Given the description of an element on the screen output the (x, y) to click on. 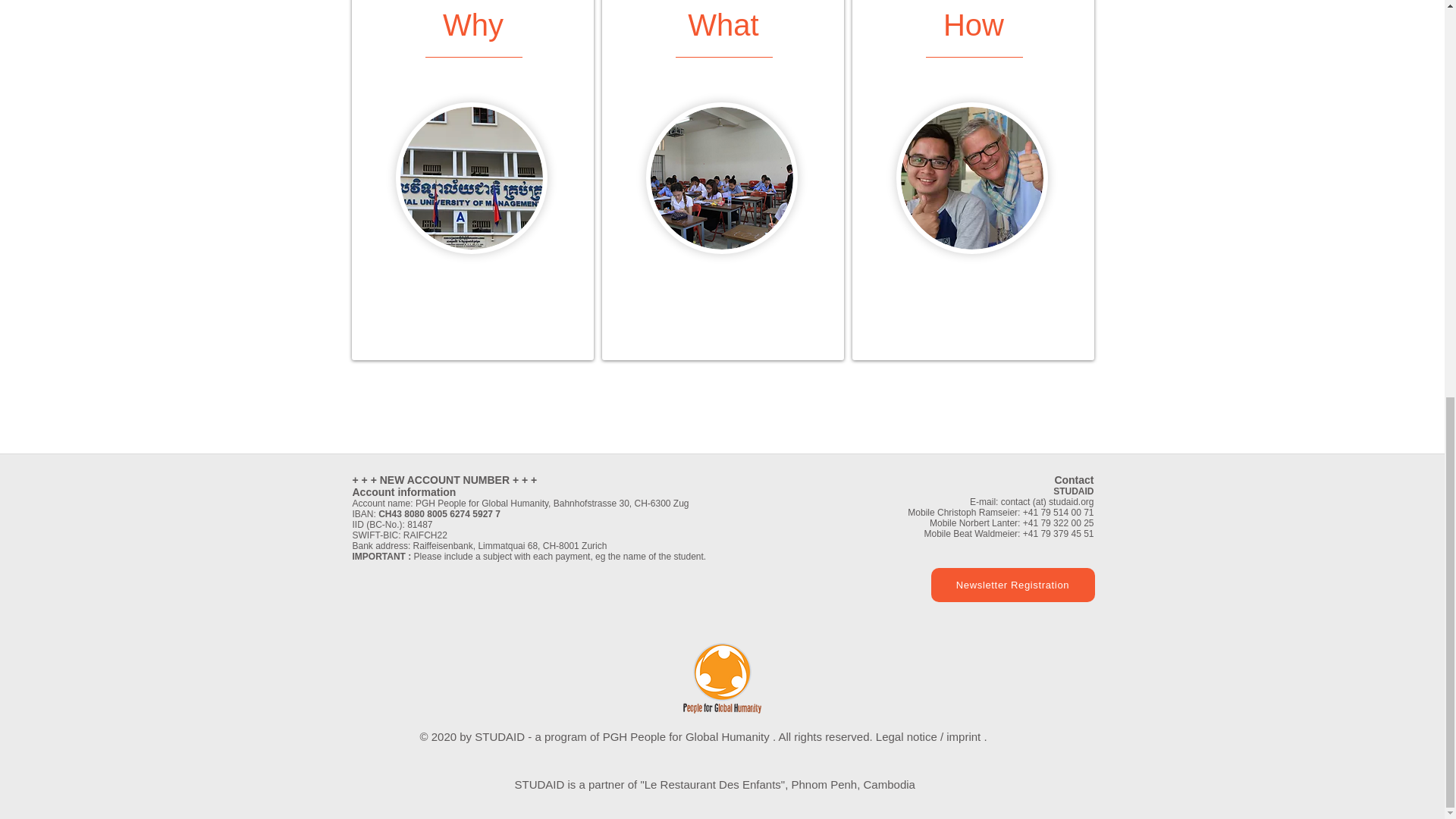
Why (472, 24)
imprint (962, 736)
PGH People for Global Humanity (686, 736)
Newsletter Registration (1012, 584)
Legal notice (906, 736)
How (973, 24)
What (722, 24)
